Given the description of an element on the screen output the (x, y) to click on. 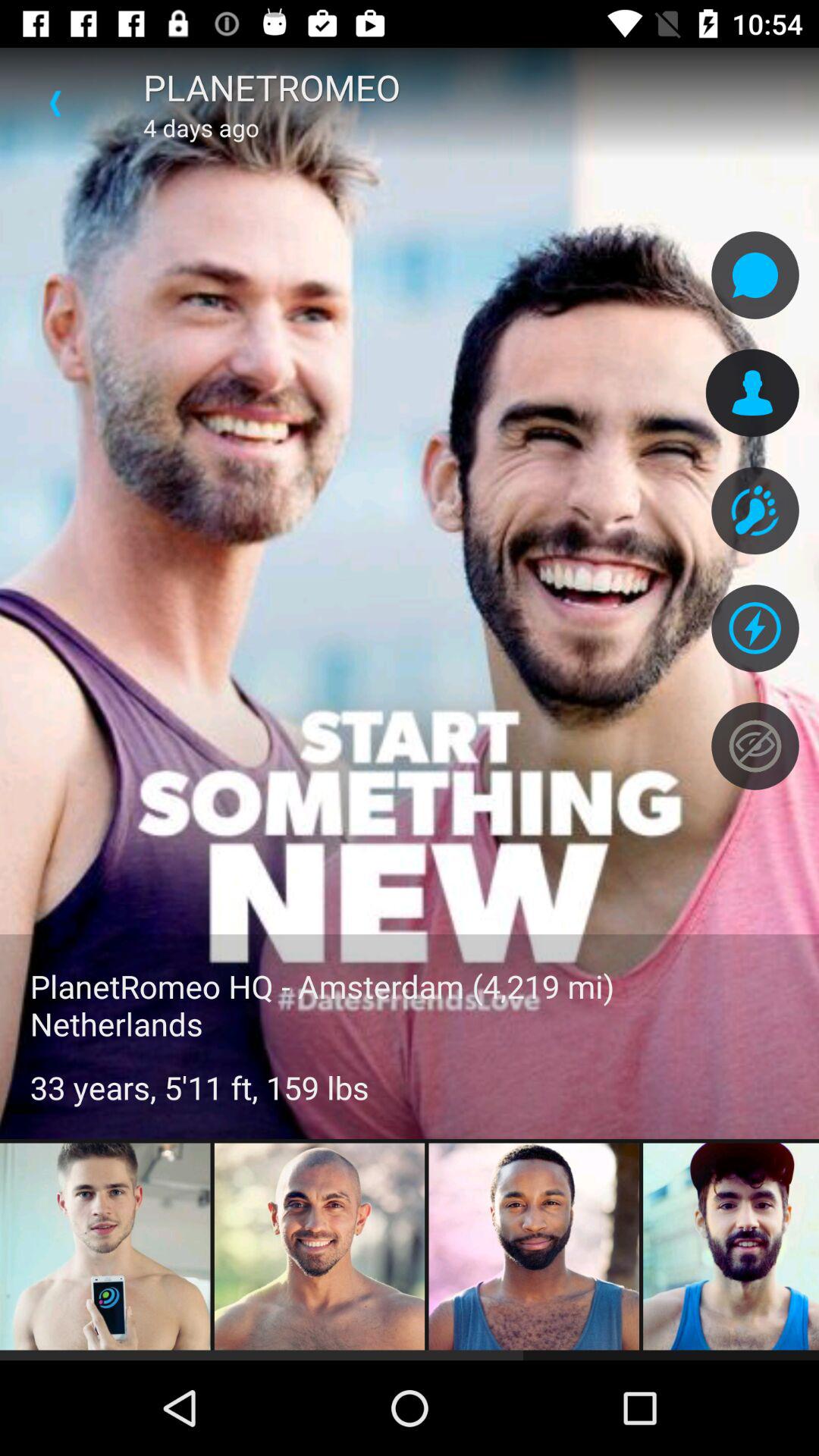
open icon to the left of planetromeo (55, 103)
